Given the description of an element on the screen output the (x, y) to click on. 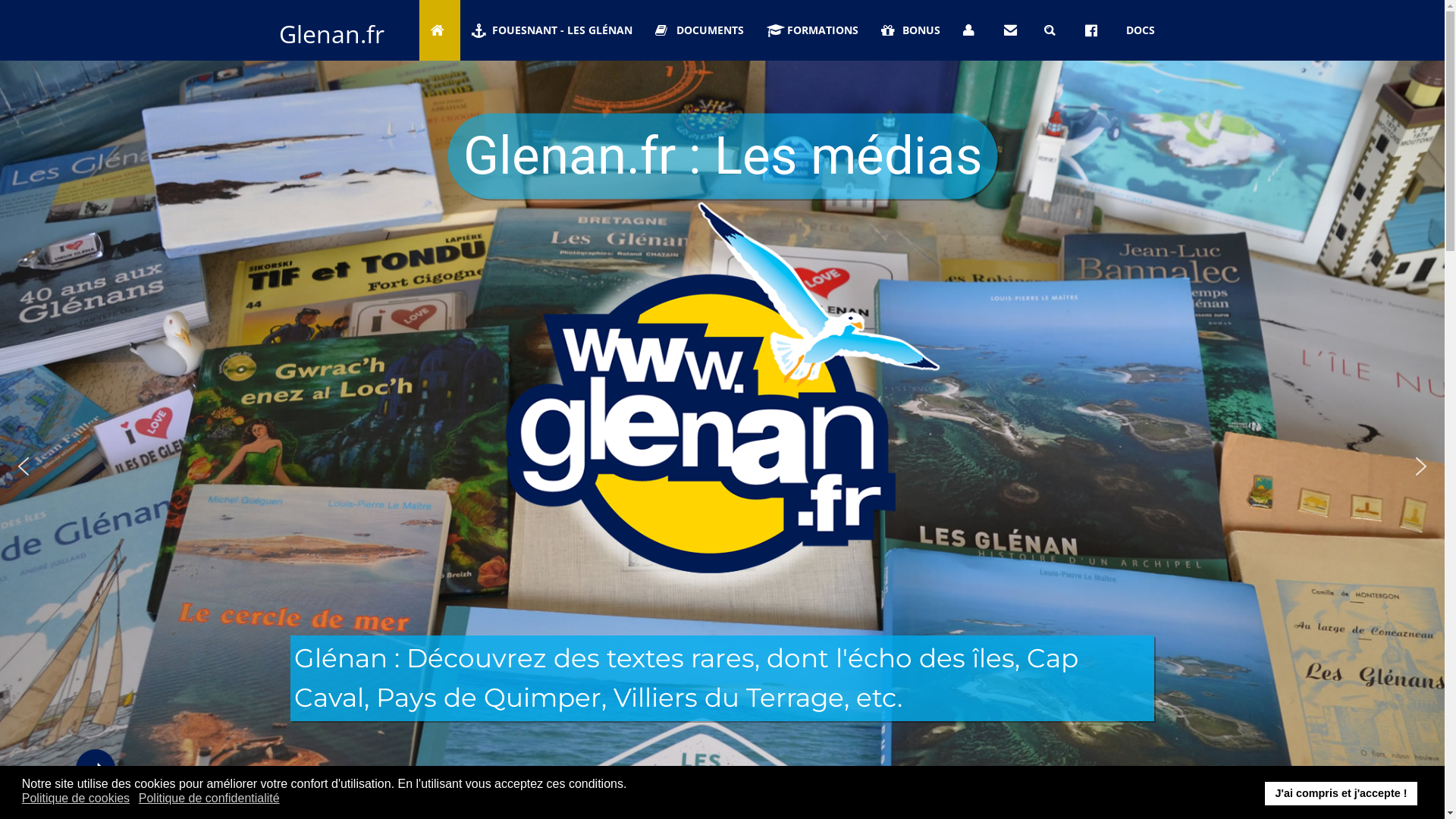
DOCS Element type: text (1140, 30)
J'ai compris et j'accepte ! Element type: text (1340, 793)
Glenan.fr Element type: text (331, 33)
DOCUMENTS Element type: text (699, 30)
BONUS Element type: text (910, 30)
Accueil de Glenan.fr Element type: hover (439, 30)
Facebook Element type: hover (1093, 30)
Politique de cookies Element type: text (76, 798)
FORMATIONS Element type: text (812, 30)
